Given the description of an element on the screen output the (x, y) to click on. 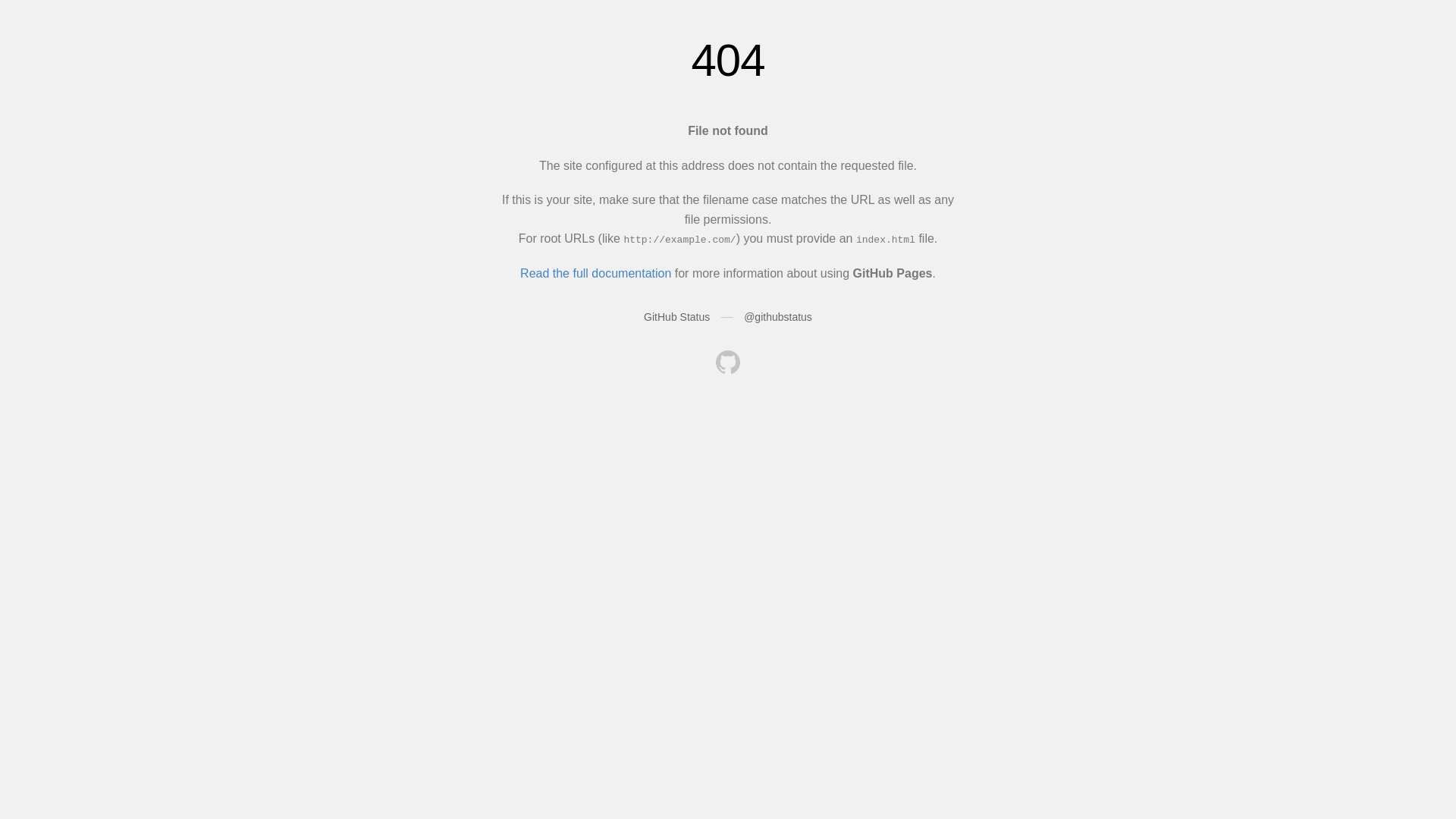
Read the full documentation Element type: text (595, 272)
@githubstatus Element type: text (777, 316)
GitHub Status Element type: text (676, 316)
